Given the description of an element on the screen output the (x, y) to click on. 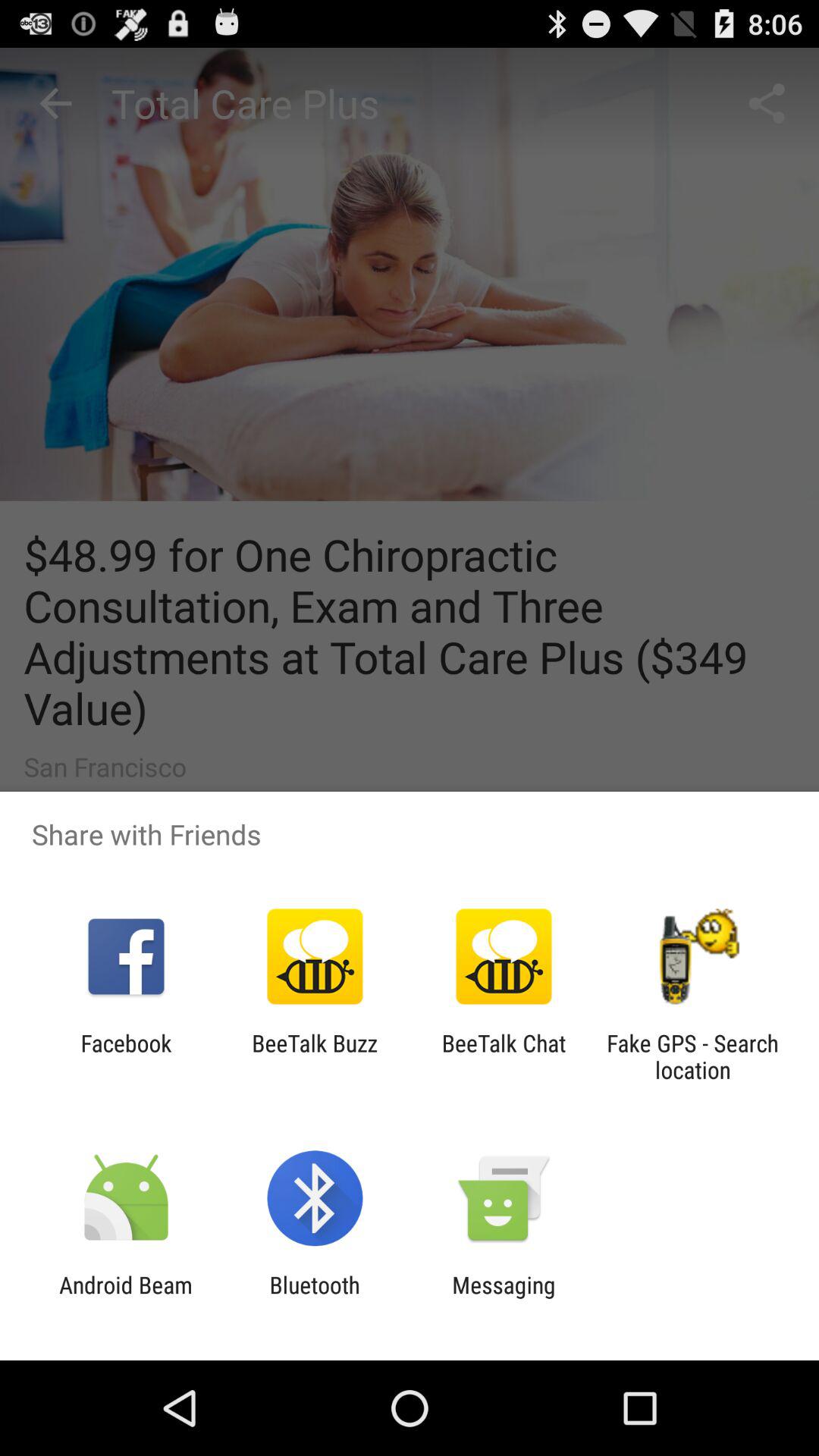
click the icon next to the beetalk buzz (503, 1056)
